Given the description of an element on the screen output the (x, y) to click on. 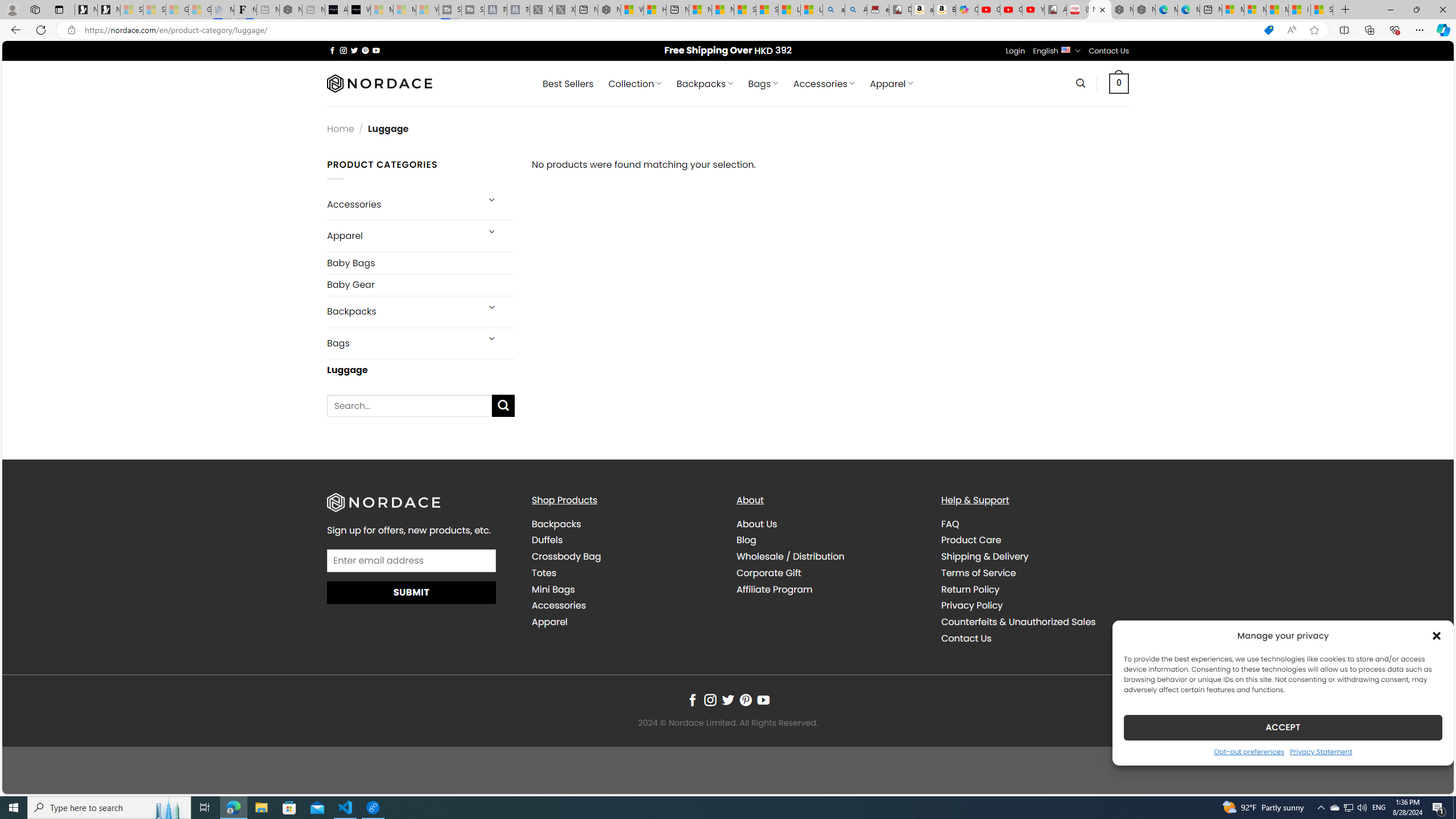
ACCEPT (1283, 727)
Blog (830, 540)
Baby Gear (421, 284)
Mini Bags (625, 589)
I Gained 20 Pounds of Muscle in 30 Days! | Watch (1300, 9)
Corporate Gift (768, 572)
Privacy Statement (1321, 750)
Gloom - YouTube (1010, 9)
Login (1015, 50)
Search for: (409, 405)
Return Policy (970, 589)
Login (1015, 50)
